Given the description of an element on the screen output the (x, y) to click on. 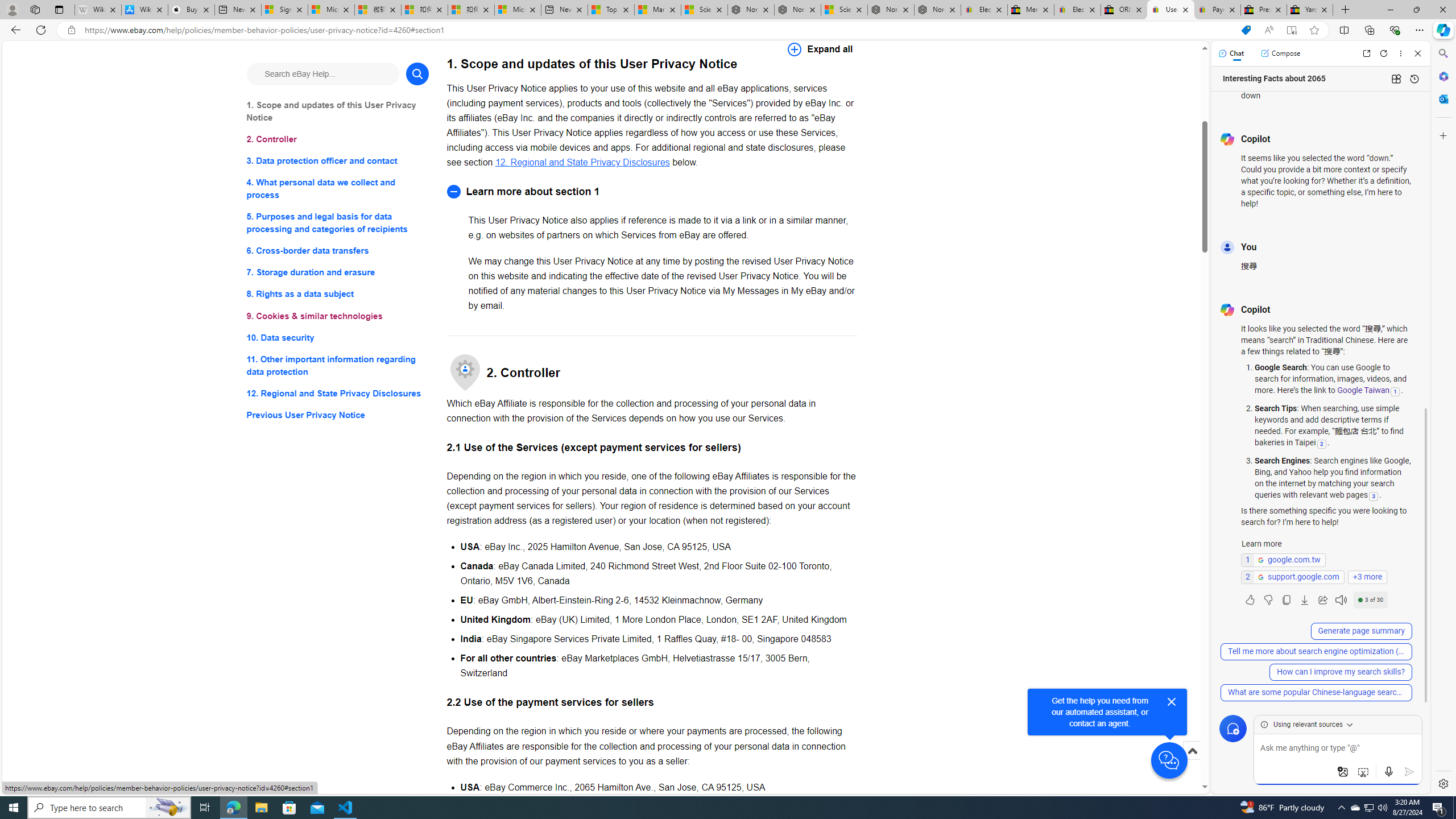
12. Regional and State Privacy Disclosures (337, 392)
Learn more about section 1 (651, 191)
Previous User Privacy Notice (337, 414)
8. Rights as a data subject (337, 293)
6. Cross-border data transfers (337, 250)
This site has coupons! Shopping in Microsoft Edge (1245, 29)
